Given the description of an element on the screen output the (x, y) to click on. 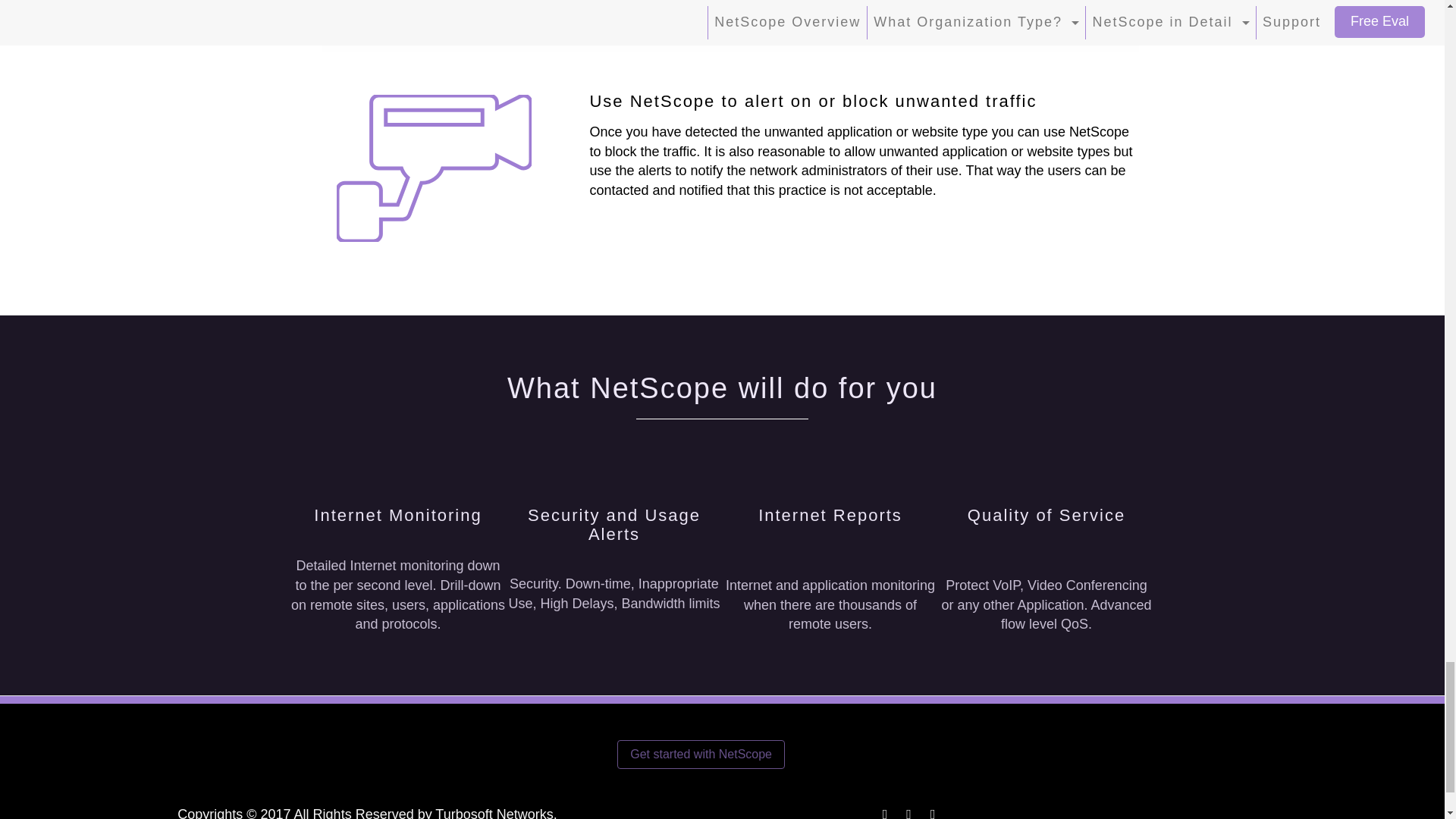
Get started with NetScope (700, 754)
Get started with NetScope (700, 753)
